Given the description of an element on the screen output the (x, y) to click on. 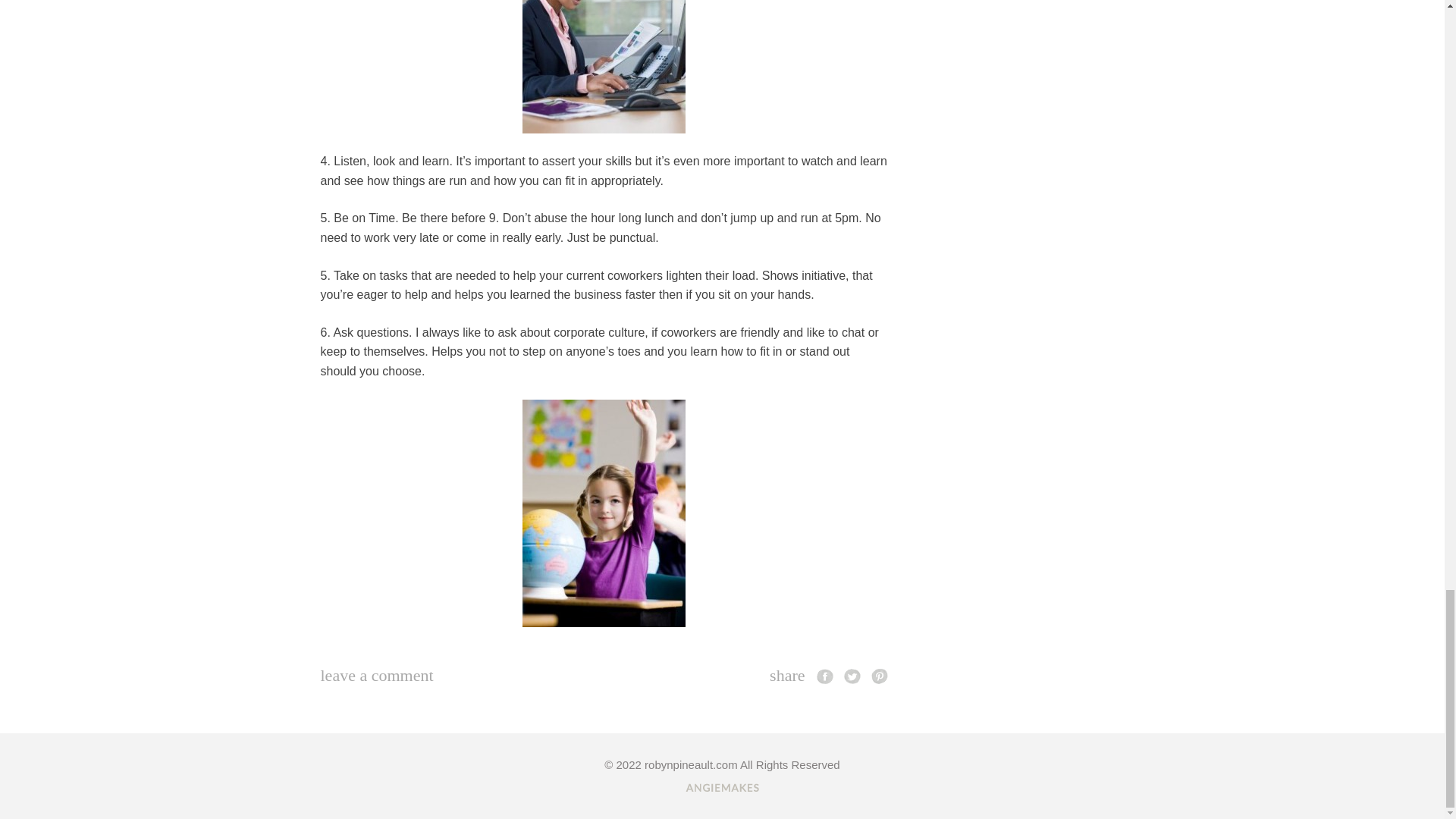
reading (603, 66)
raising hand (603, 513)
